Given the description of an element on the screen output the (x, y) to click on. 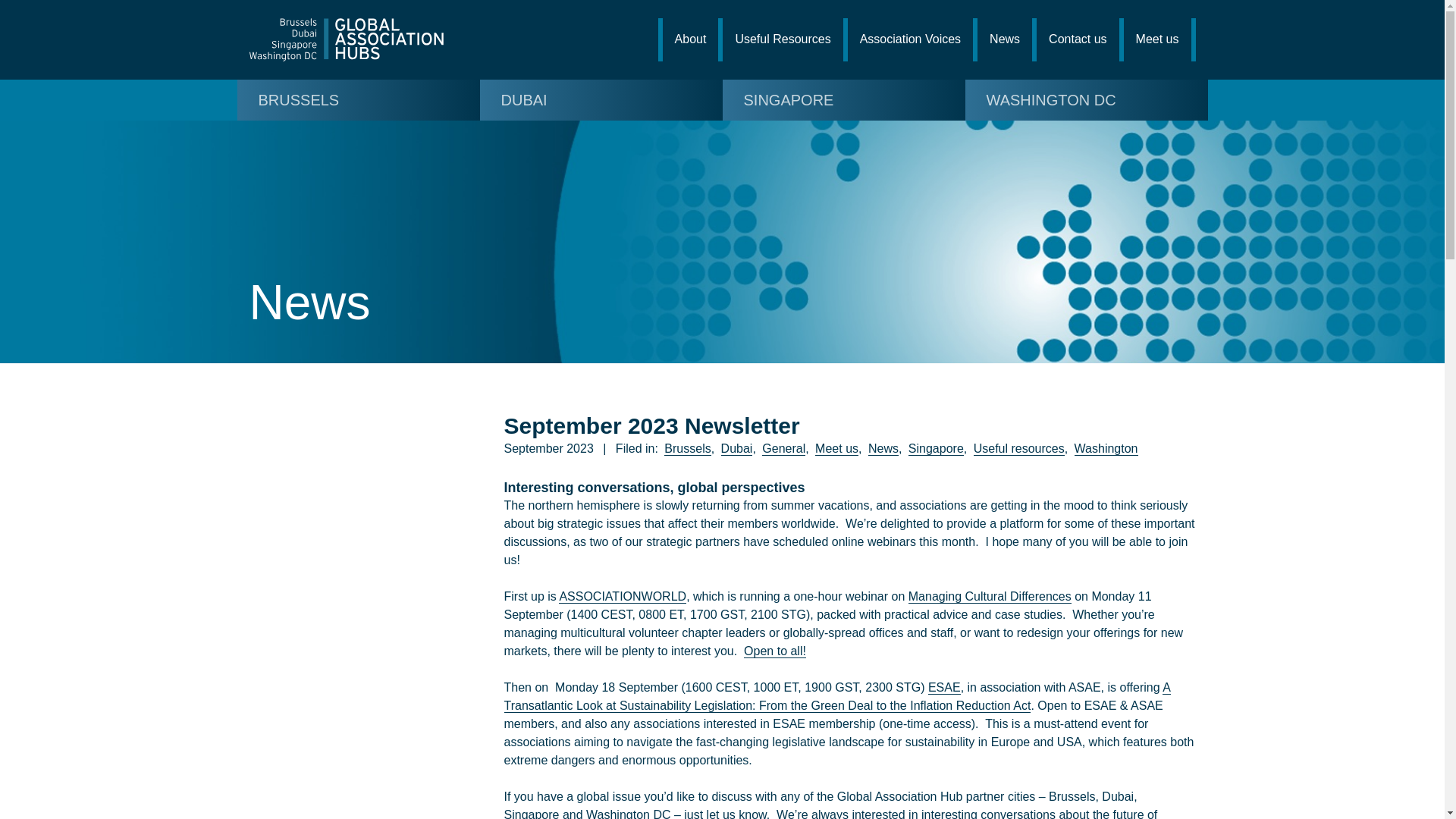
Managing Cultural Differences (989, 596)
ESAE (944, 687)
General (783, 448)
Open to all! (775, 651)
Association Voices (909, 39)
News (1004, 39)
Dubai (736, 448)
ASSOCIATIONWORLD (622, 596)
Meet us (1157, 39)
News (882, 448)
Brussels (686, 448)
Contact us (1077, 39)
Meet us (837, 448)
Useful Resources (782, 39)
Useful resources (1019, 448)
